Given the description of an element on the screen output the (x, y) to click on. 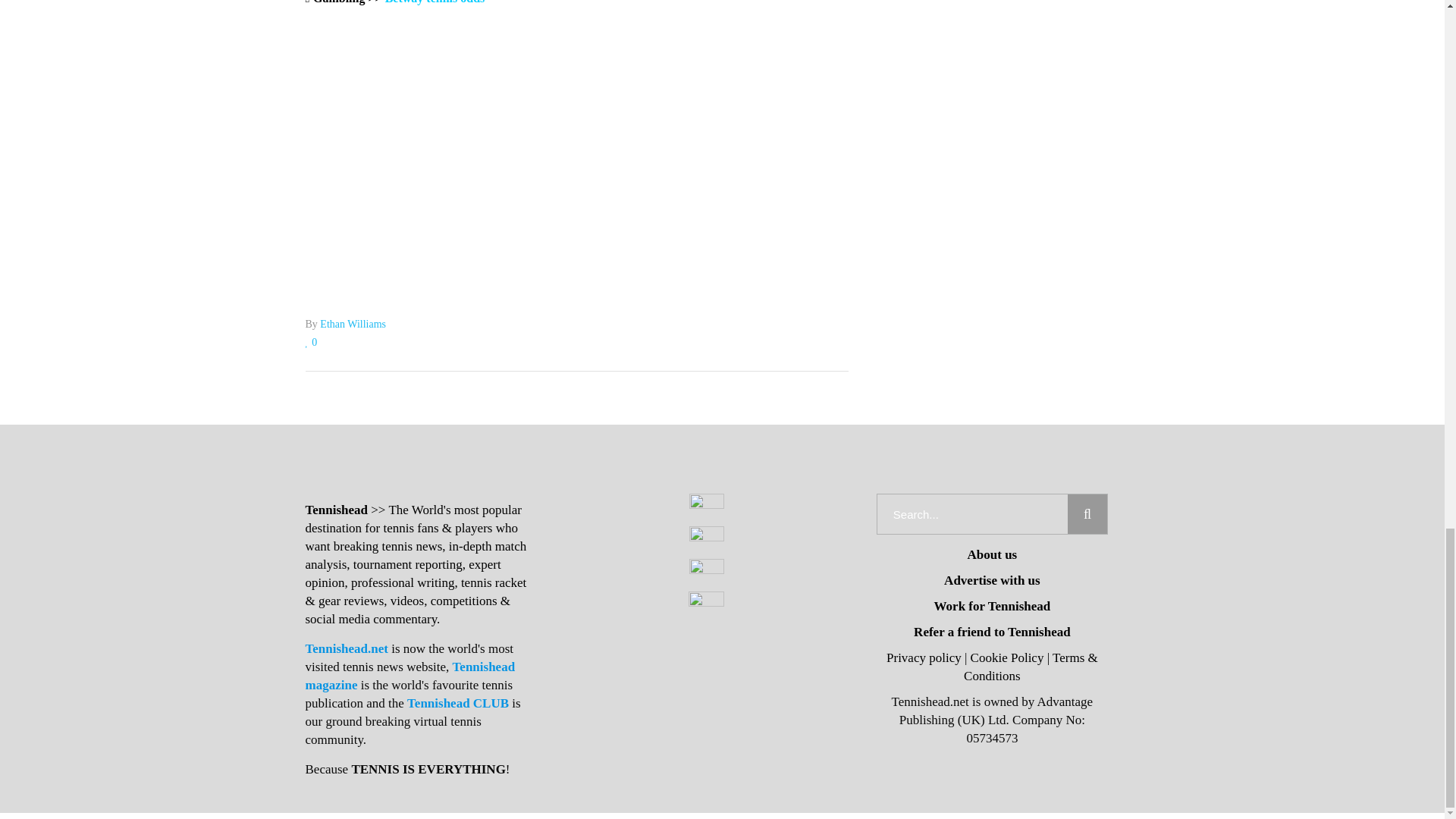
Like this (310, 342)
TNNS Live Scores (576, 193)
Search for: (972, 513)
